Given the description of an element on the screen output the (x, y) to click on. 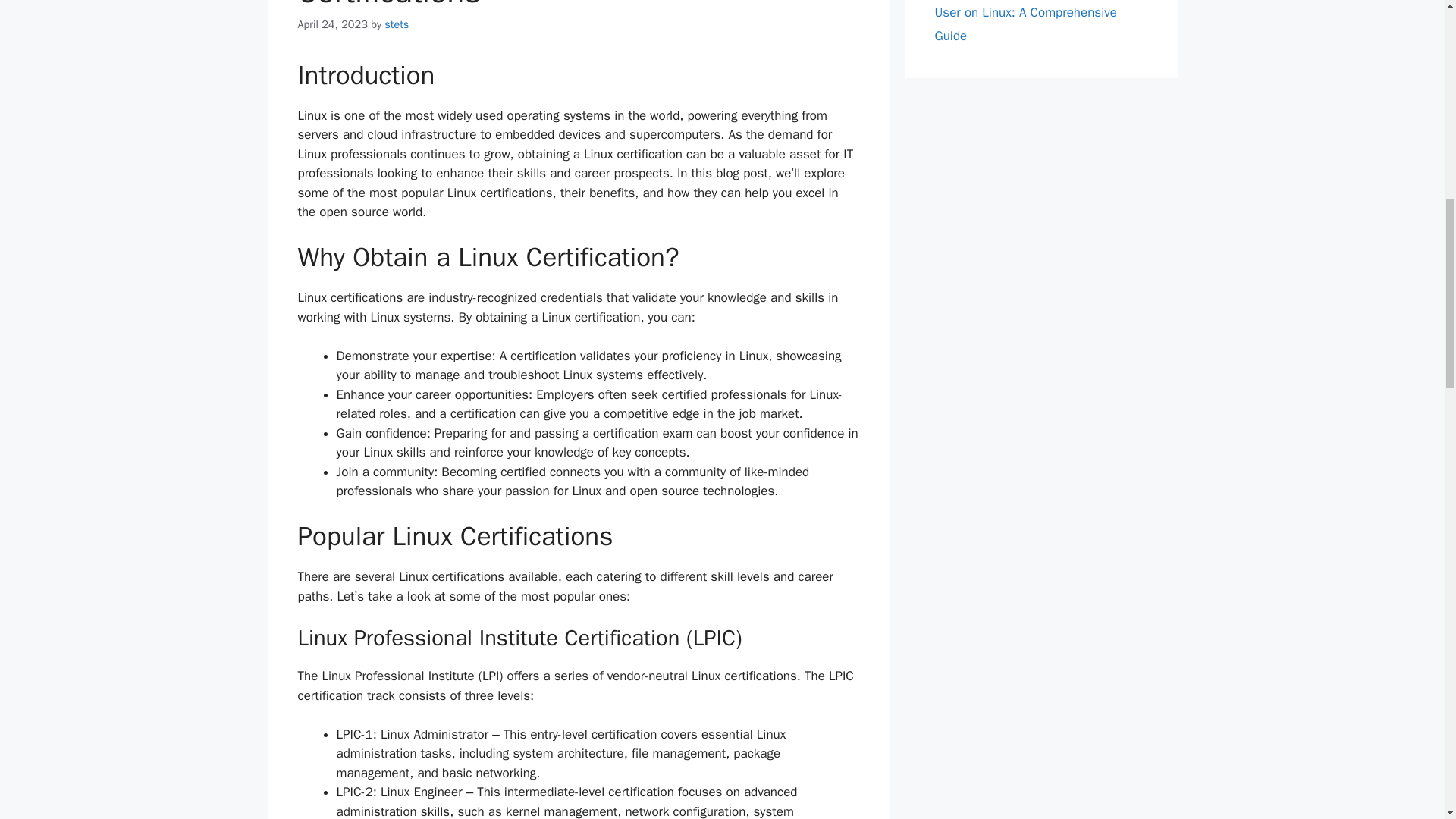
stets (396, 24)
View all posts by stets (396, 24)
How to Remove a User on Linux: A Comprehensive Guide (1037, 22)
